Given the description of an element on the screen output the (x, y) to click on. 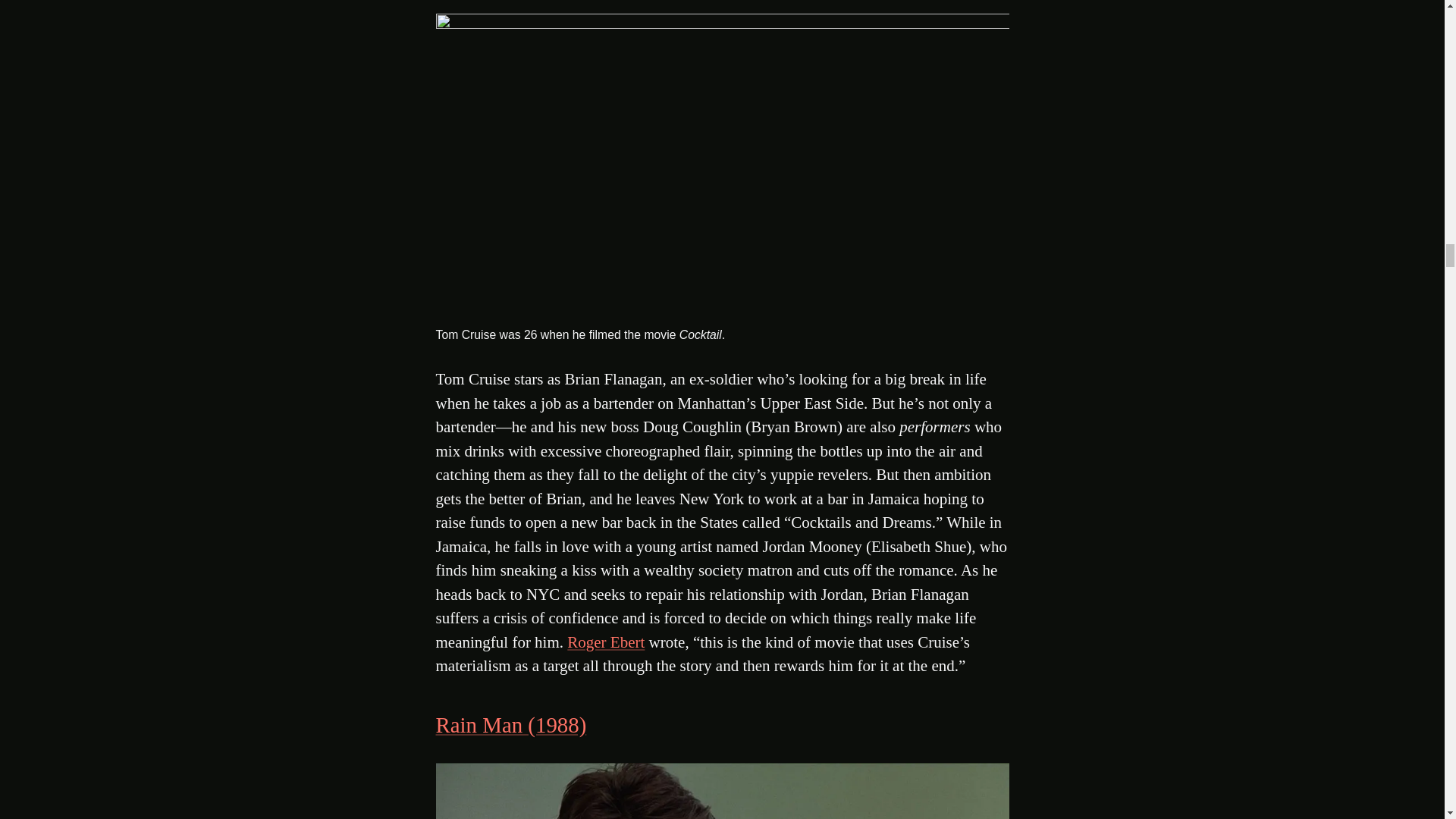
Roger Ebert (606, 642)
